Given the description of an element on the screen output the (x, y) to click on. 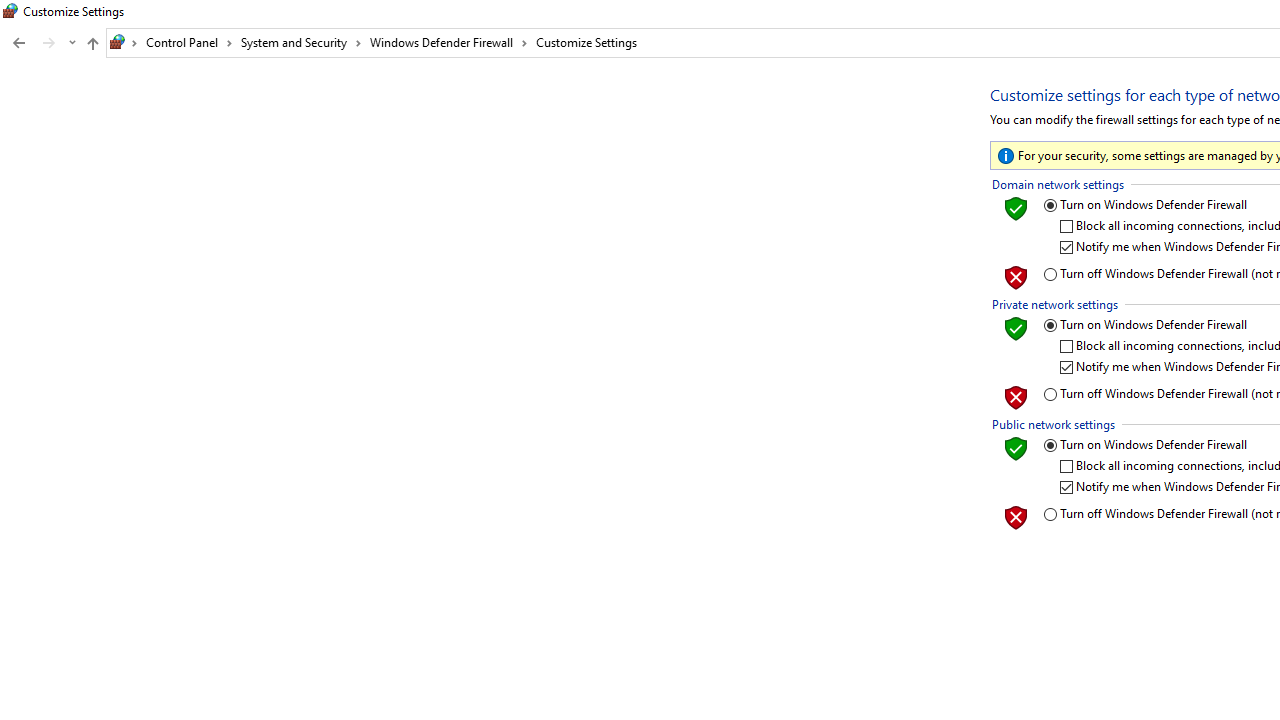
Back to Windows Defender Firewall (Alt + Left Arrow) (18, 43)
System (10, 11)
Navigation buttons (41, 43)
Windows Defender Firewall (449, 42)
Up band toolbar (92, 46)
System (10, 11)
System and Security (301, 42)
All locations (124, 42)
Control Panel (189, 42)
Recent locations (71, 43)
Customize Settings (586, 42)
Forward (Alt + Right Arrow) (49, 43)
Up to "Windows Defender Firewall" (Alt + Up Arrow) (92, 43)
